Given the description of an element on the screen output the (x, y) to click on. 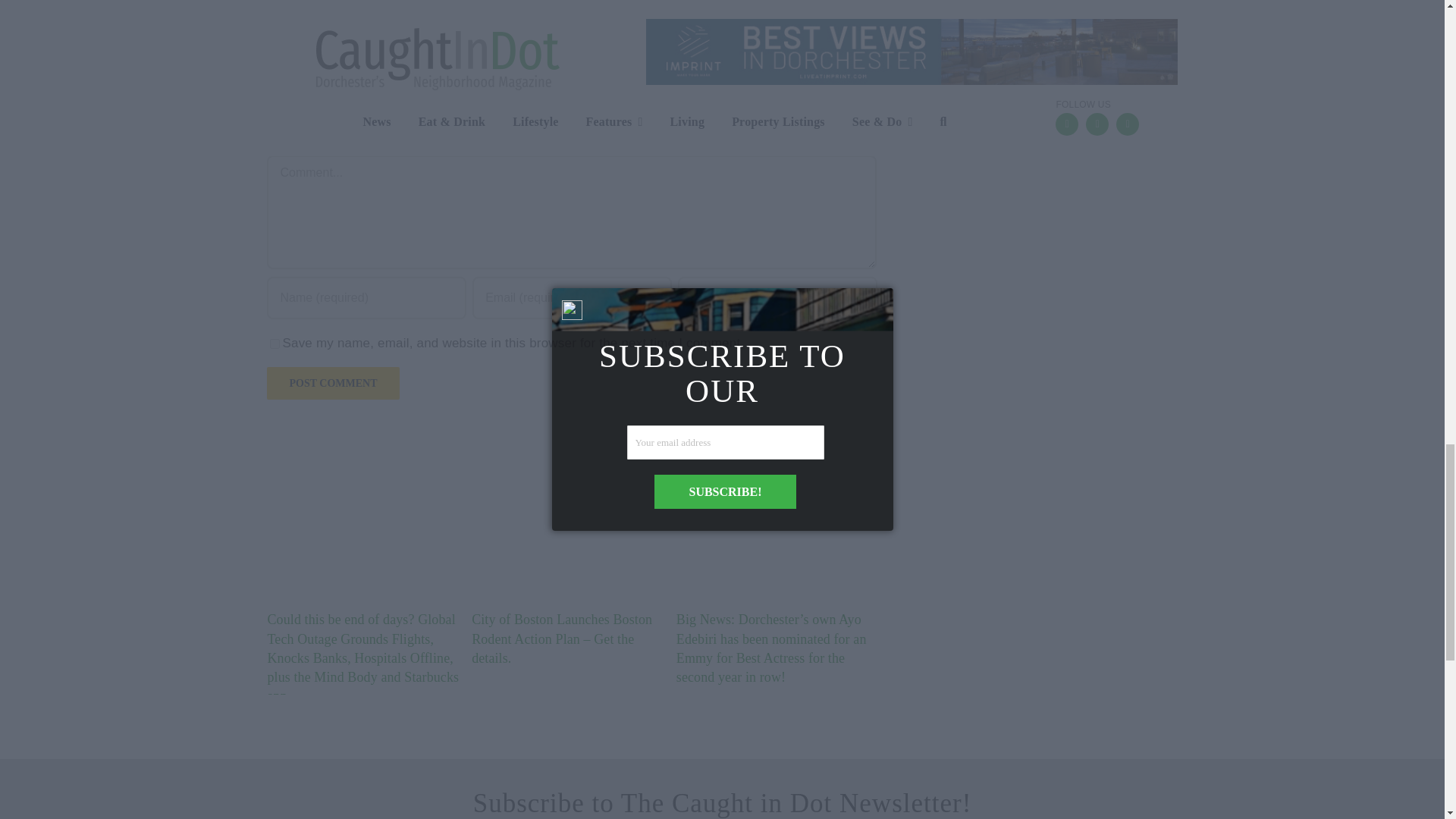
yes (274, 343)
Post Comment (332, 382)
